Given the description of an element on the screen output the (x, y) to click on. 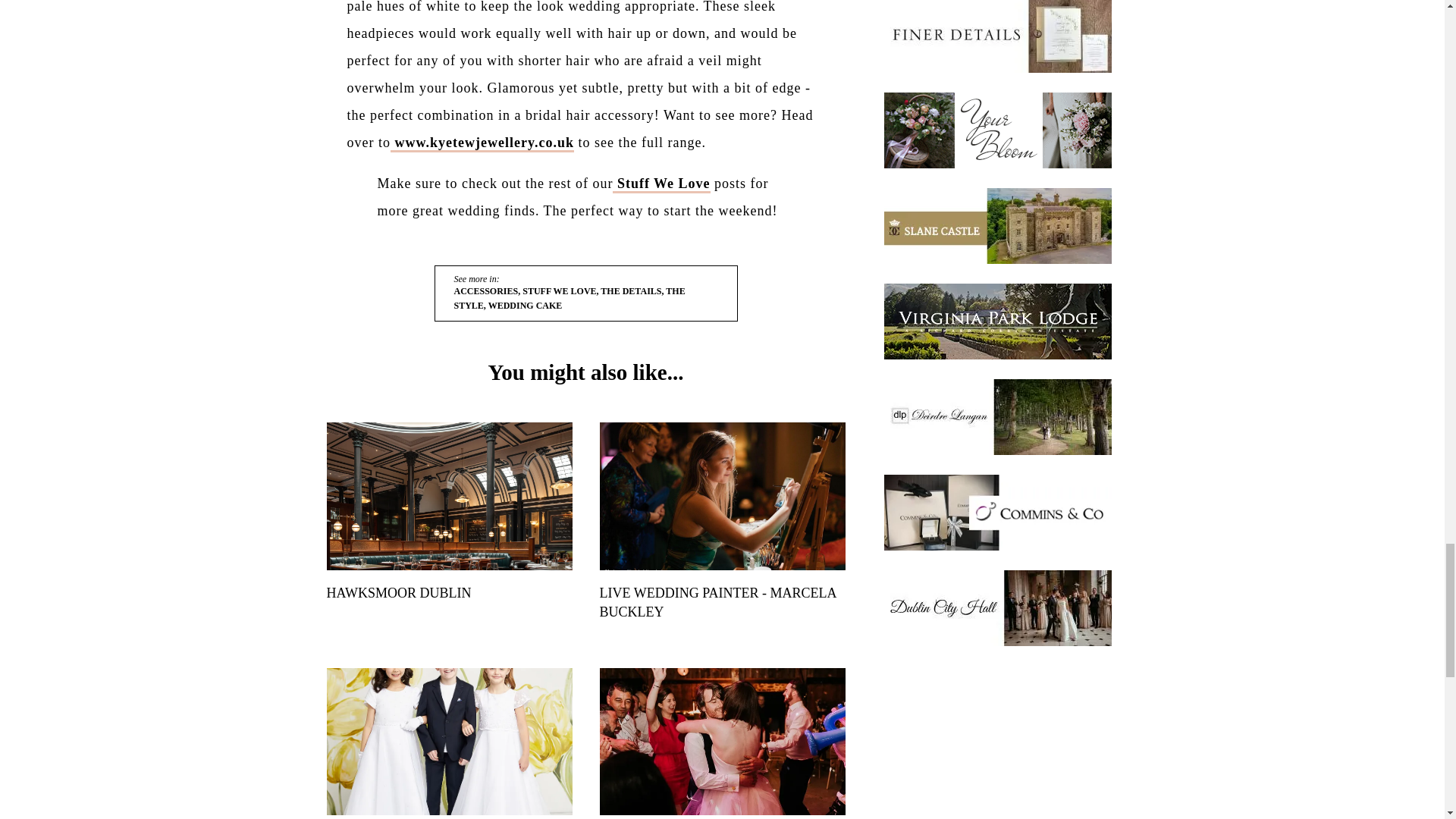
one fab day (661, 184)
Kye Tew Jewellery (481, 143)
